Given the description of an element on the screen output the (x, y) to click on. 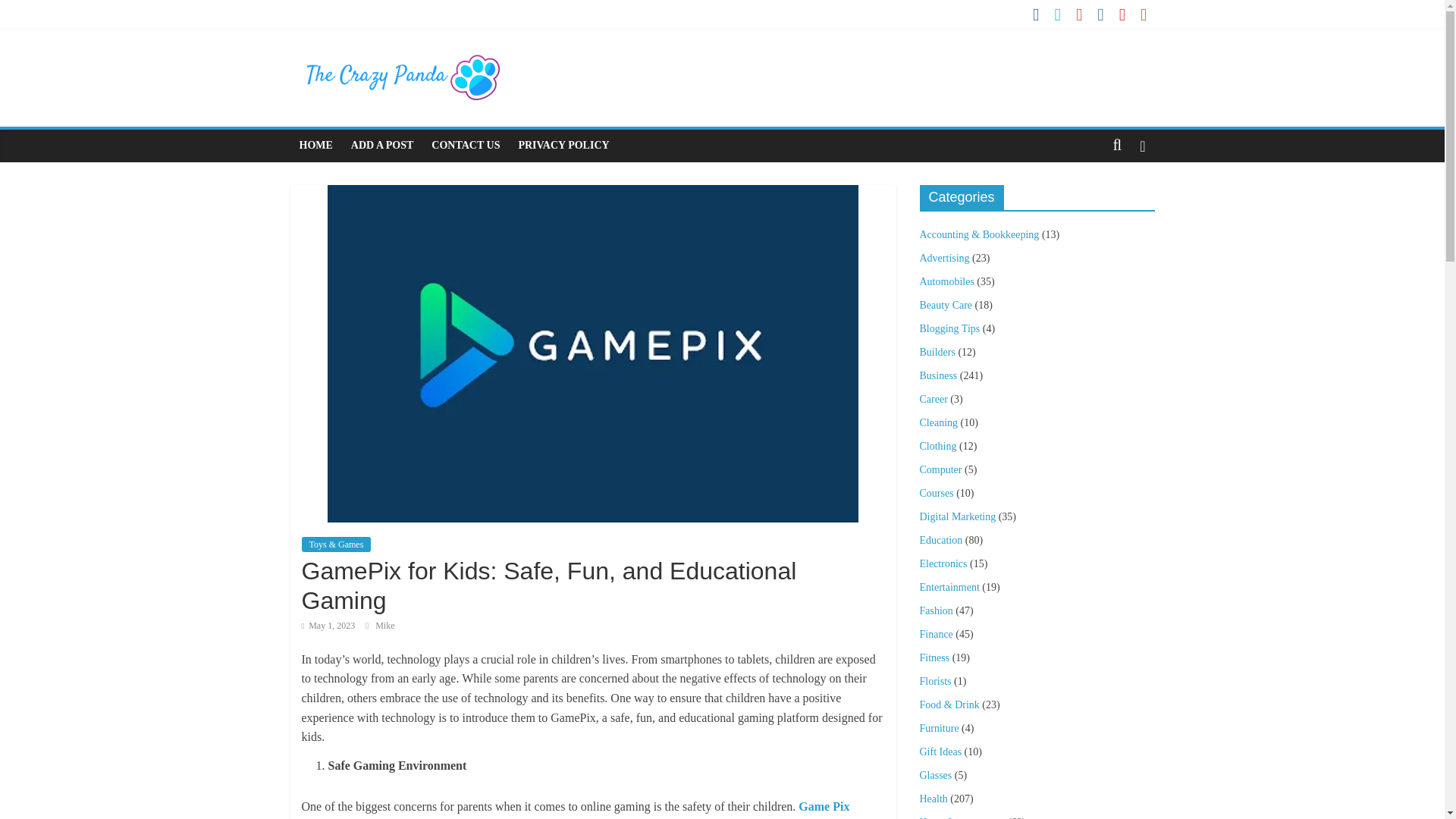
ADD A POST (382, 145)
PRIVACY POLICY (562, 145)
Blogging Tips (948, 328)
Beauty Care (945, 305)
HOME (314, 145)
CONTACT US (465, 145)
May 1, 2023 (328, 624)
Game Pix (822, 806)
Mike (384, 624)
Mike (384, 624)
